Given the description of an element on the screen output the (x, y) to click on. 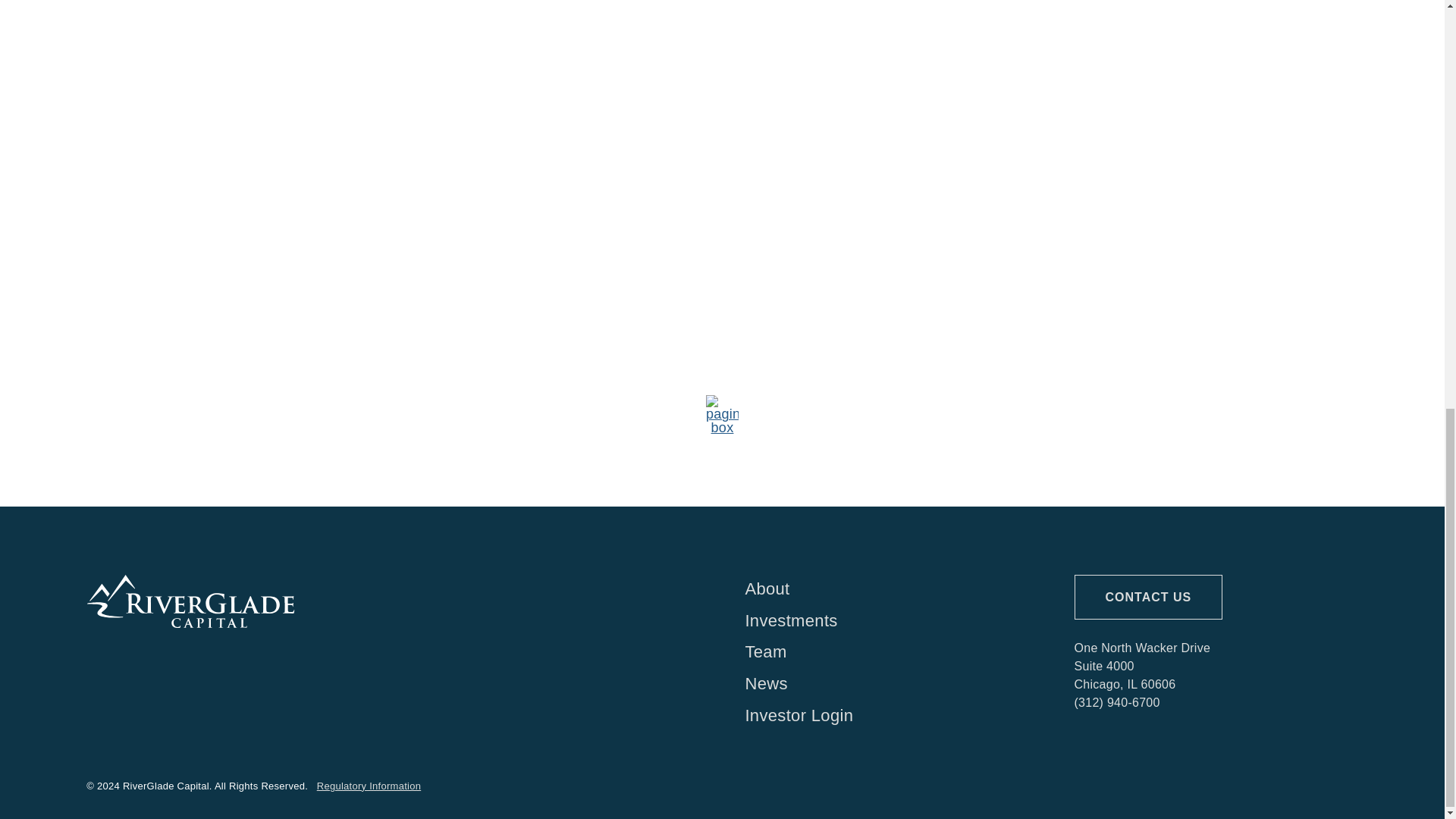
CONTACT US (1148, 596)
Next (1117, 412)
Investor Login (885, 715)
Previous (325, 412)
News (885, 683)
RiverGlade Capital logo (190, 601)
About (885, 588)
Team (885, 652)
Investments (885, 620)
Regulatory Information (368, 785)
